Given the description of an element on the screen output the (x, y) to click on. 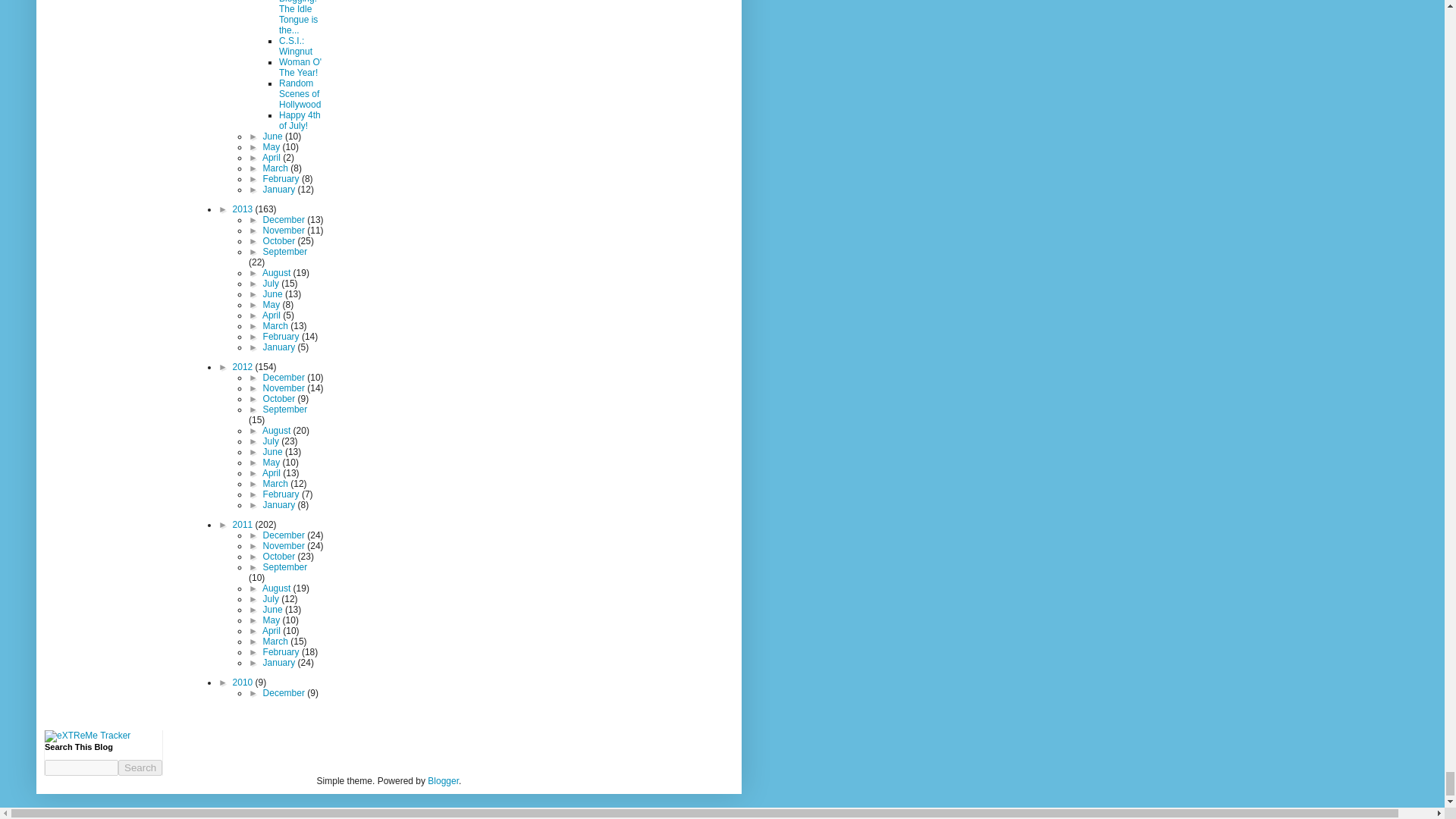
Search (139, 767)
Search (139, 767)
